Given the description of an element on the screen output the (x, y) to click on. 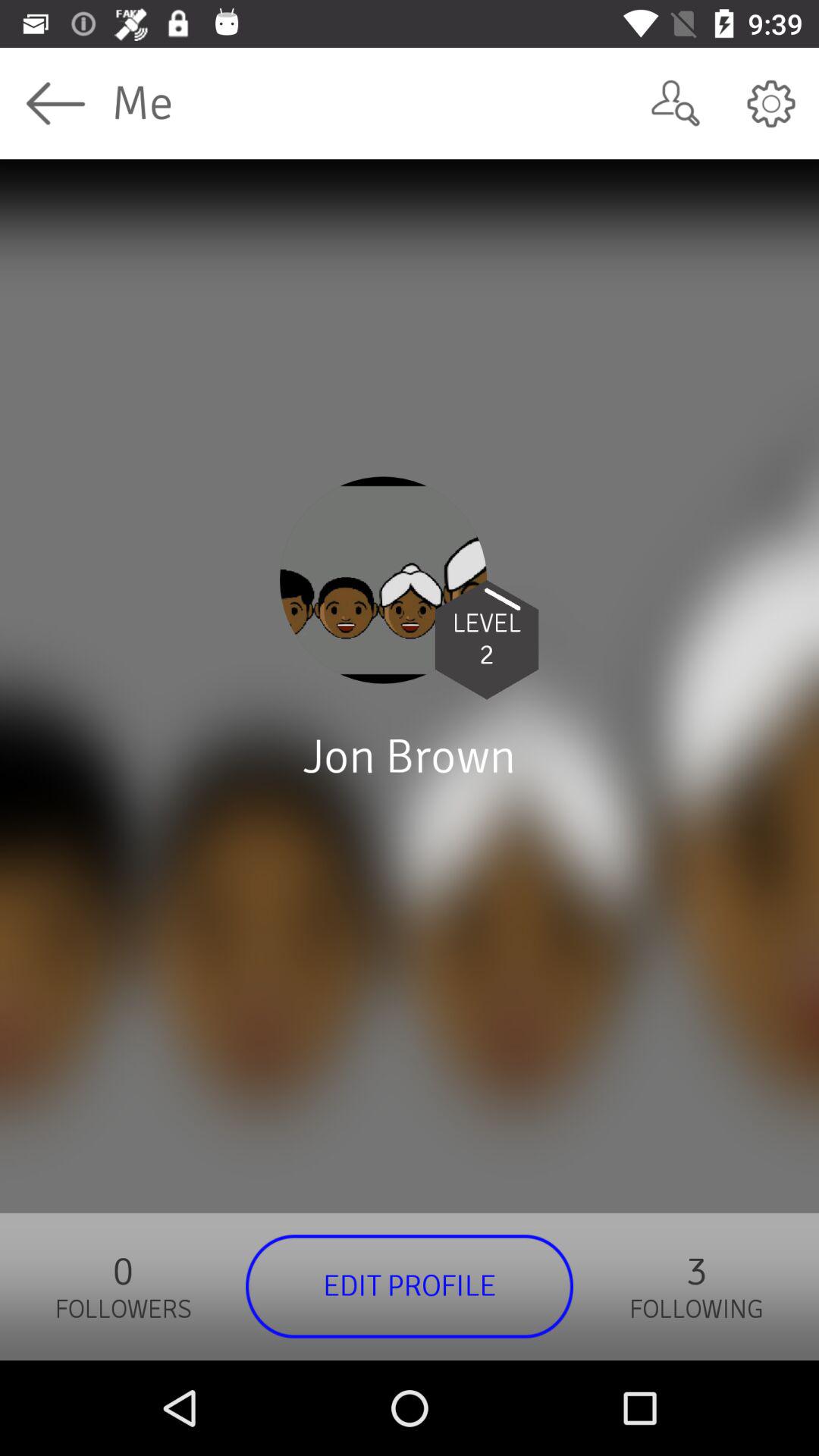
tap icon next to the me icon (55, 103)
